Given the description of an element on the screen output the (x, y) to click on. 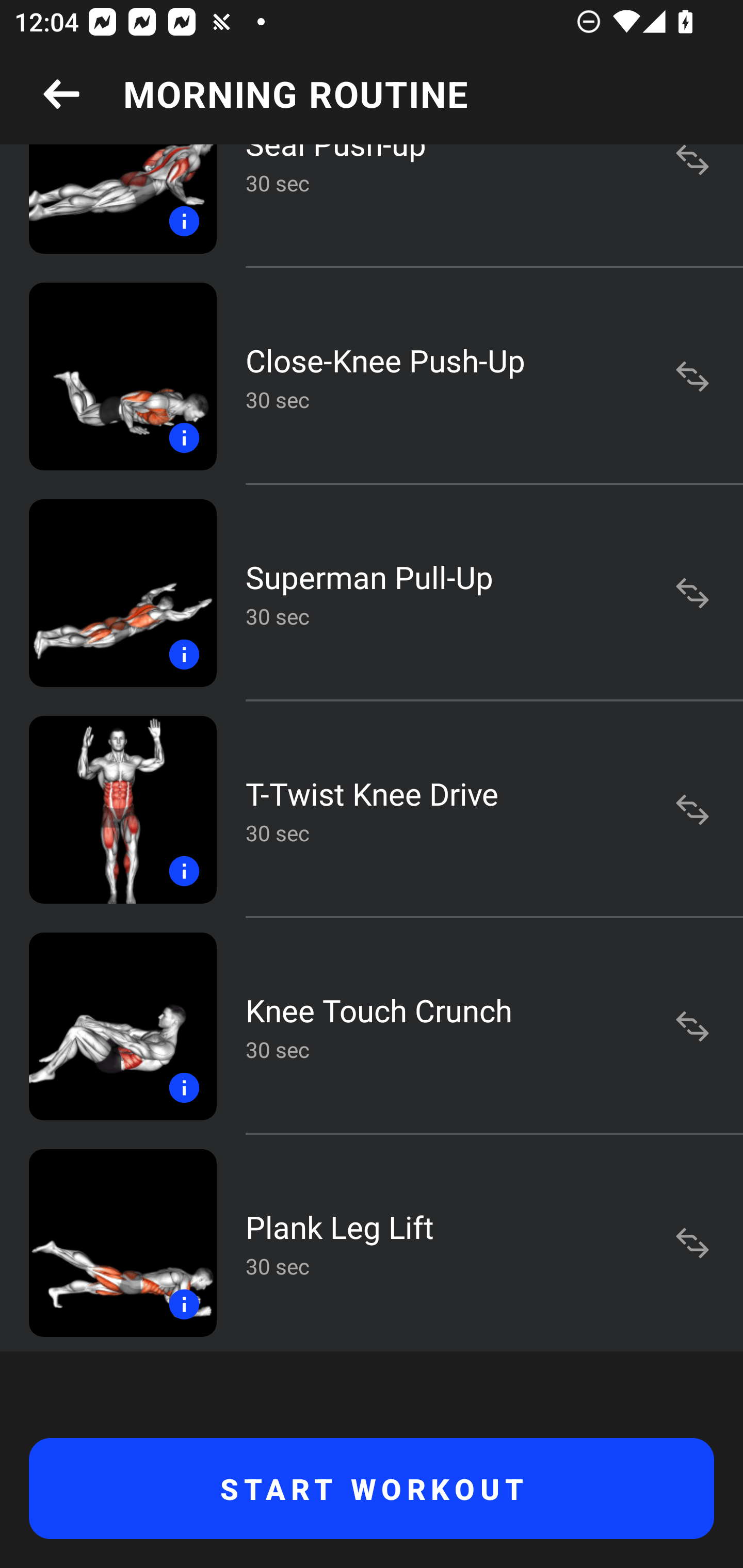
Seal Push-up 30 sec (371, 206)
Close-Knee Push-Up 30 sec (371, 376)
Superman Pull-Up 30 sec (371, 592)
T-Twist Knee Drive 30 sec (371, 809)
Knee Touch Crunch 30 sec (371, 1026)
Plank Leg Lift 30 sec (371, 1243)
START WORKOUT (371, 1488)
